Given the description of an element on the screen output the (x, y) to click on. 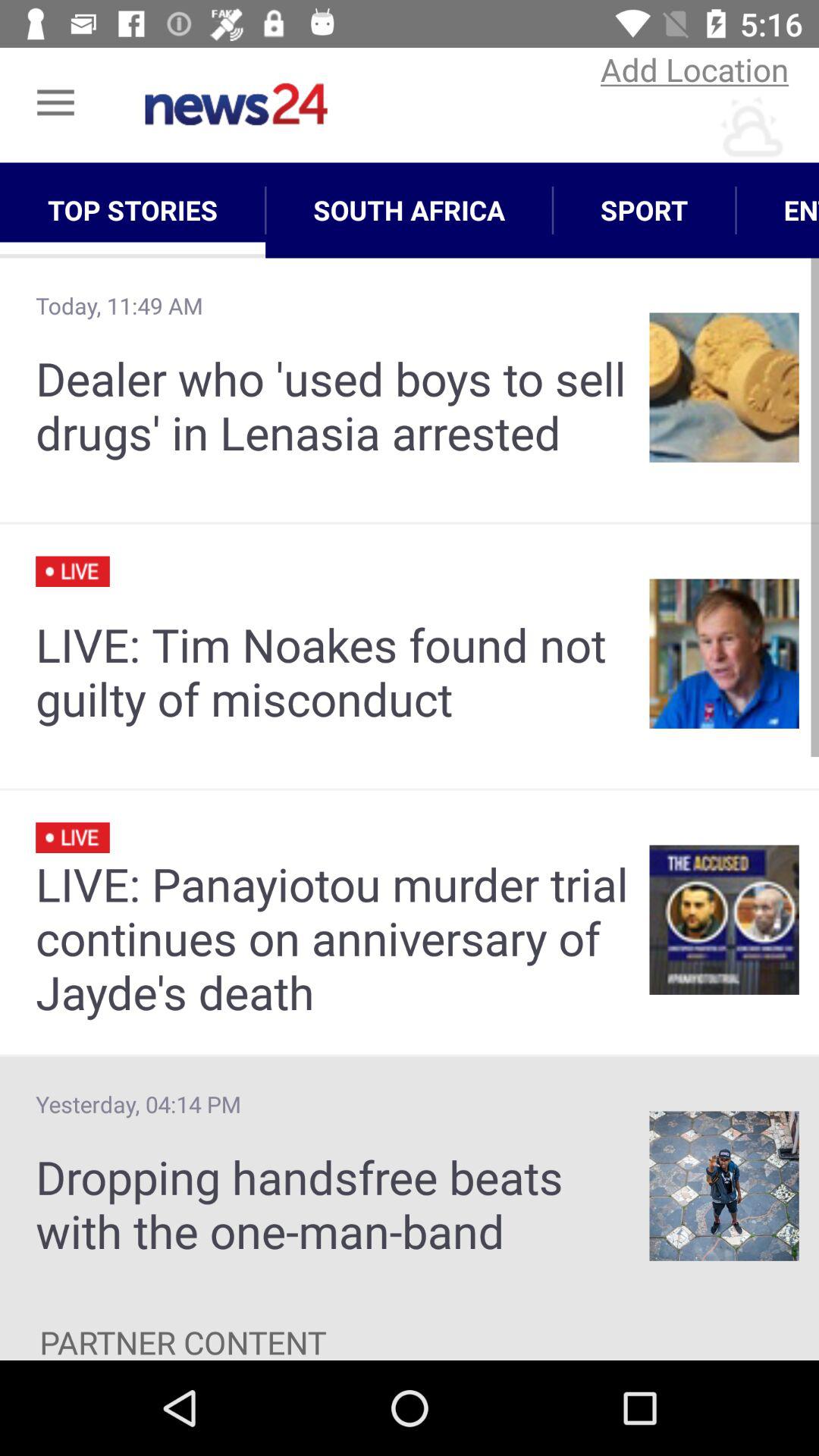
choose app to the left of the sport icon (408, 210)
